Given the description of an element on the screen output the (x, y) to click on. 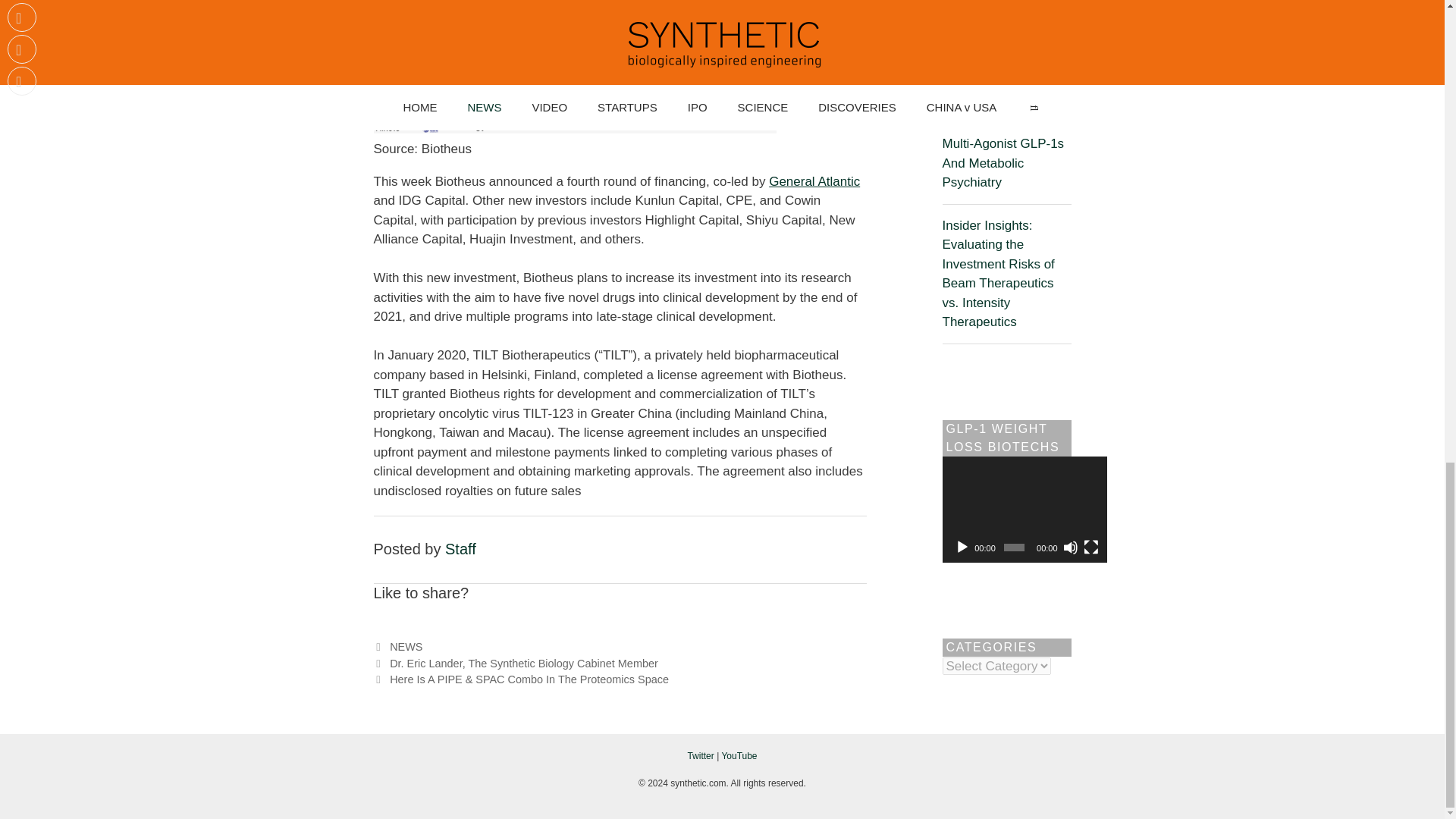
Play (961, 547)
Next (520, 679)
Posted byStaff  (460, 548)
General Atlantic (814, 181)
Dr. Eric Lander, The Synthetic Biology Cabinet Member (524, 663)
Mute (1070, 547)
Previous (515, 663)
NEWS (406, 646)
Staff (460, 548)
